Given the description of an element on the screen output the (x, y) to click on. 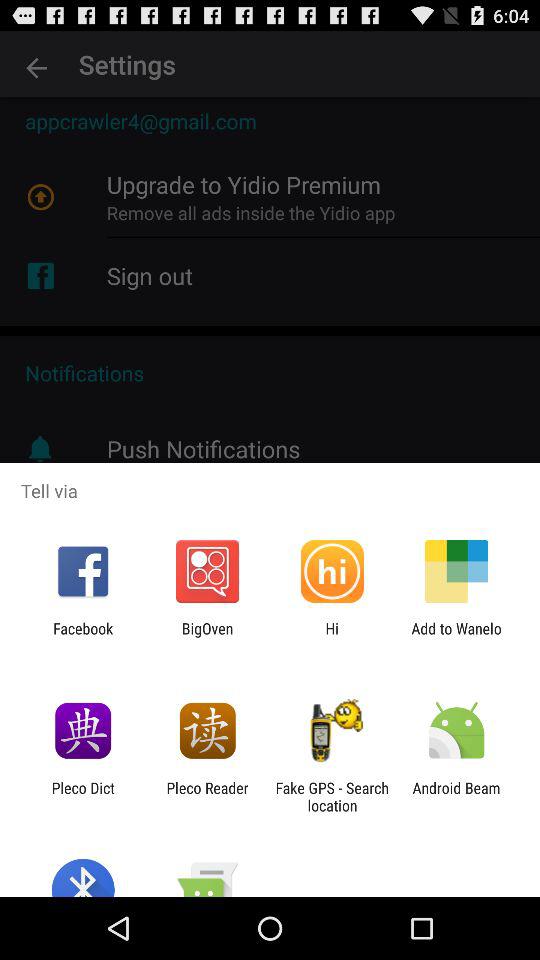
turn off the icon to the right of the pleco dict item (207, 796)
